Given the description of an element on the screen output the (x, y) to click on. 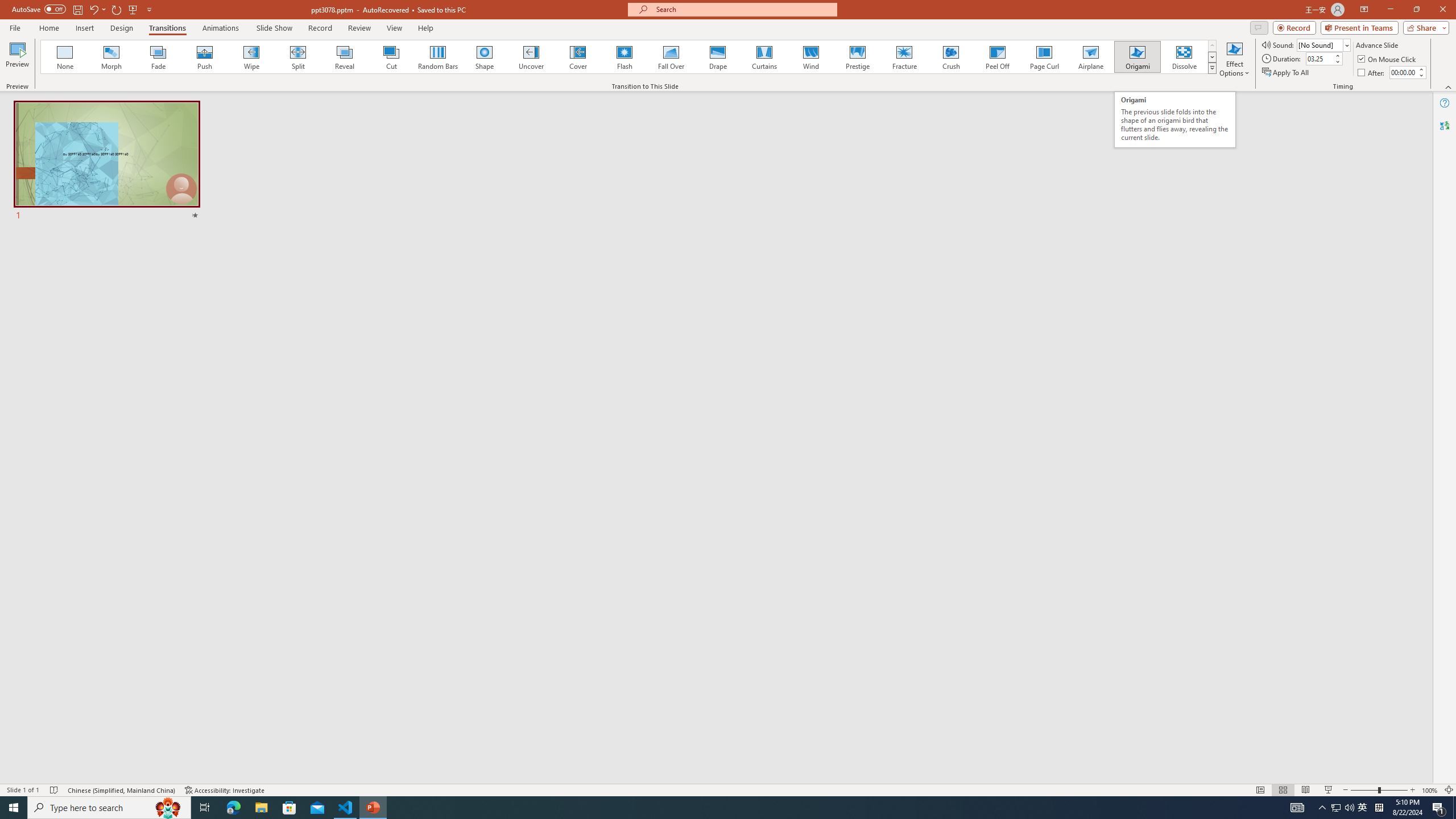
Duration (1319, 58)
Peel Off (997, 56)
Origami (1136, 56)
Sound (1324, 44)
Zoom 100% (1430, 790)
